Given the description of an element on the screen output the (x, y) to click on. 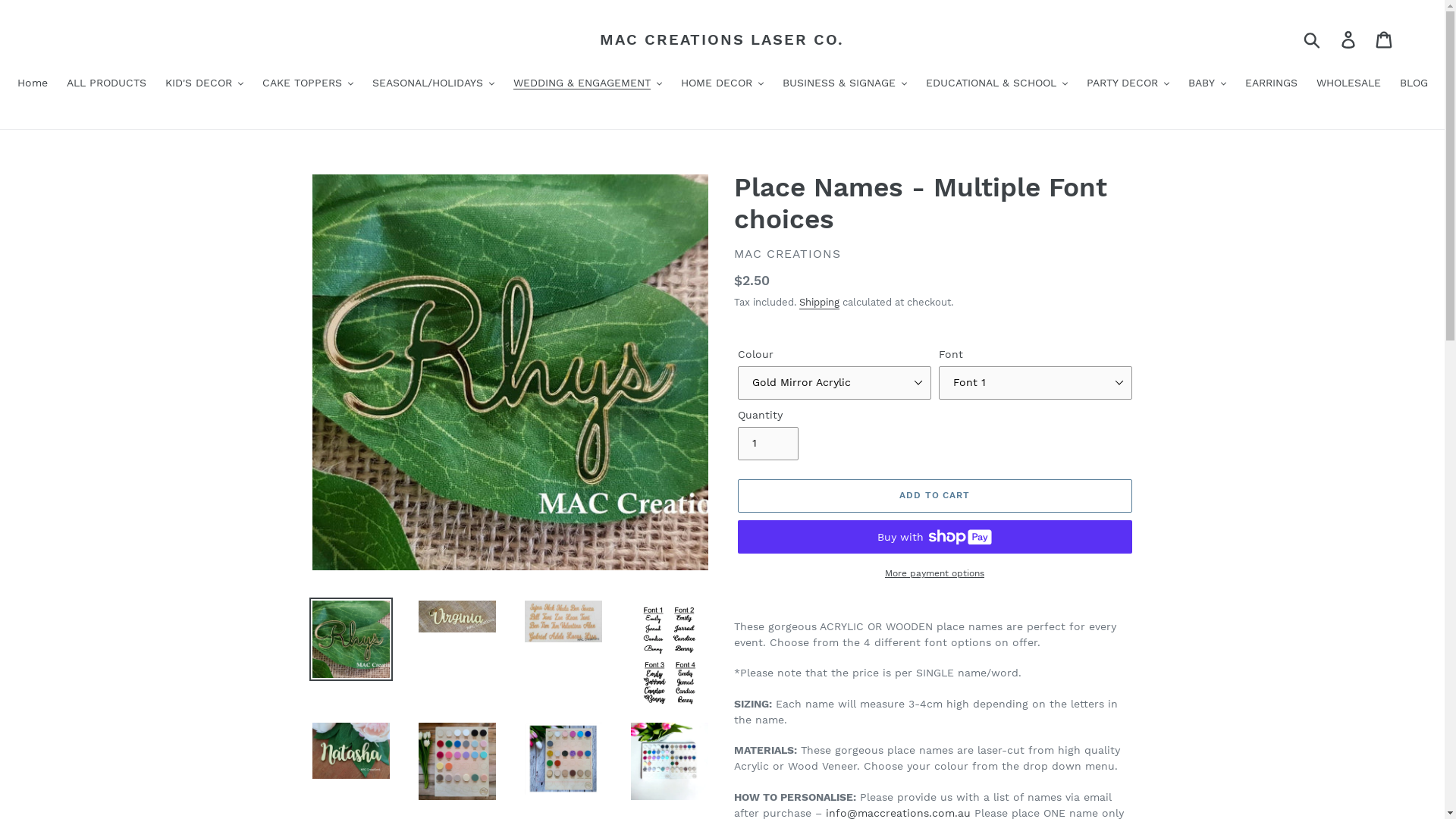
ADD TO CART Element type: text (934, 495)
ALL PRODUCTS Element type: text (106, 84)
More payment options Element type: text (934, 572)
Cart Element type: text (1384, 38)
Home Element type: text (31, 84)
Submit Element type: text (1312, 39)
Shipping Element type: text (819, 302)
Log in Element type: text (1349, 38)
EARRINGS Element type: text (1271, 84)
MAC CREATIONS LASER CO. Element type: text (721, 39)
BLOG Element type: text (1413, 84)
WHOLESALE Element type: text (1348, 84)
